Given the description of an element on the screen output the (x, y) to click on. 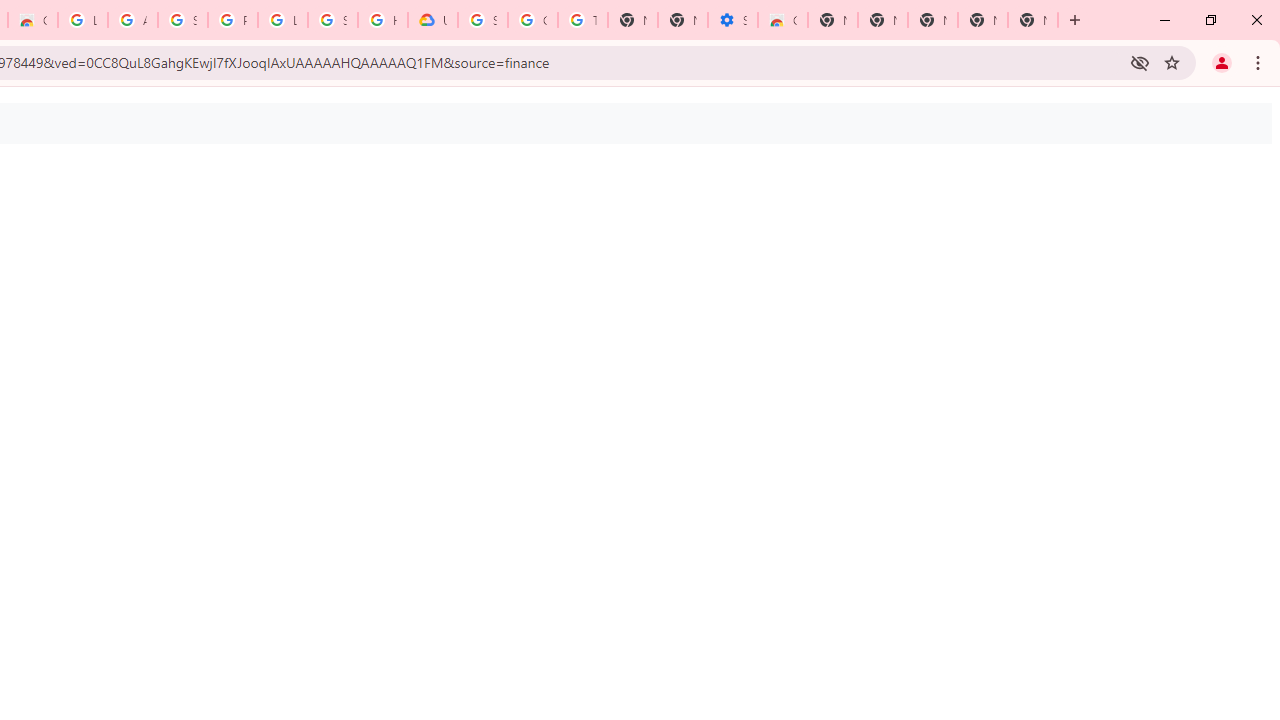
Sign in - Google Accounts (483, 20)
Chrome Web Store - Accessibility extensions (782, 20)
Ad Settings (132, 20)
New Tab (1032, 20)
Turn cookies on or off - Computer - Google Account Help (582, 20)
